Given the description of an element on the screen output the (x, y) to click on. 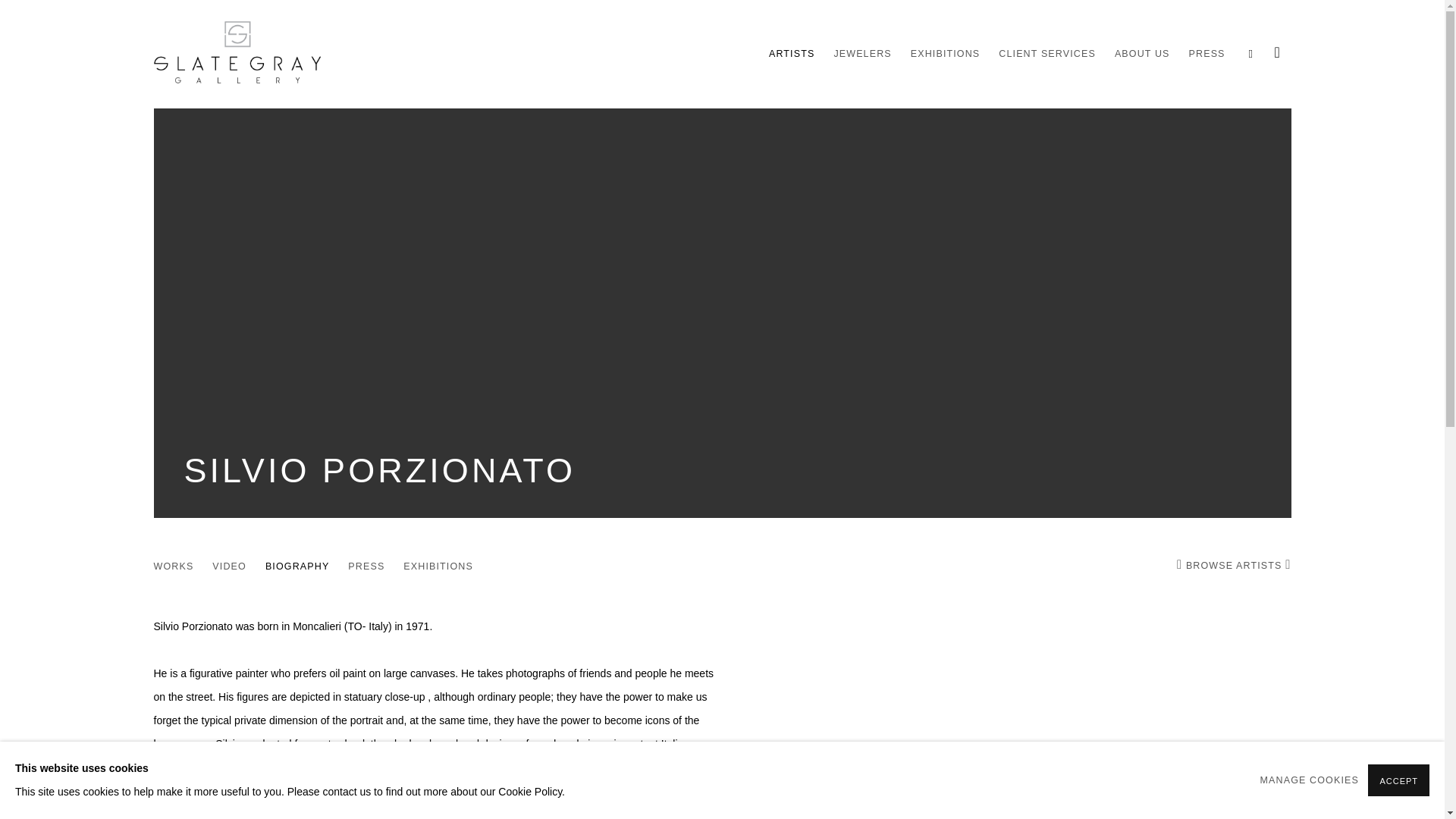
PRESS (365, 568)
CLIENT SERVICES (1047, 53)
PRESS (1207, 53)
Go (8, 5)
ARTISTS (790, 53)
SILVIO PORZIONATO (379, 470)
WORKS (172, 568)
JEWELERS (861, 53)
BIOGRAPHY (296, 568)
SLATE GRAY GALLERY (236, 53)
ABOUT US (1142, 53)
EXHIBITIONS (438, 568)
EXHIBITIONS (945, 53)
VIDEO (229, 568)
